Given the description of an element on the screen output the (x, y) to click on. 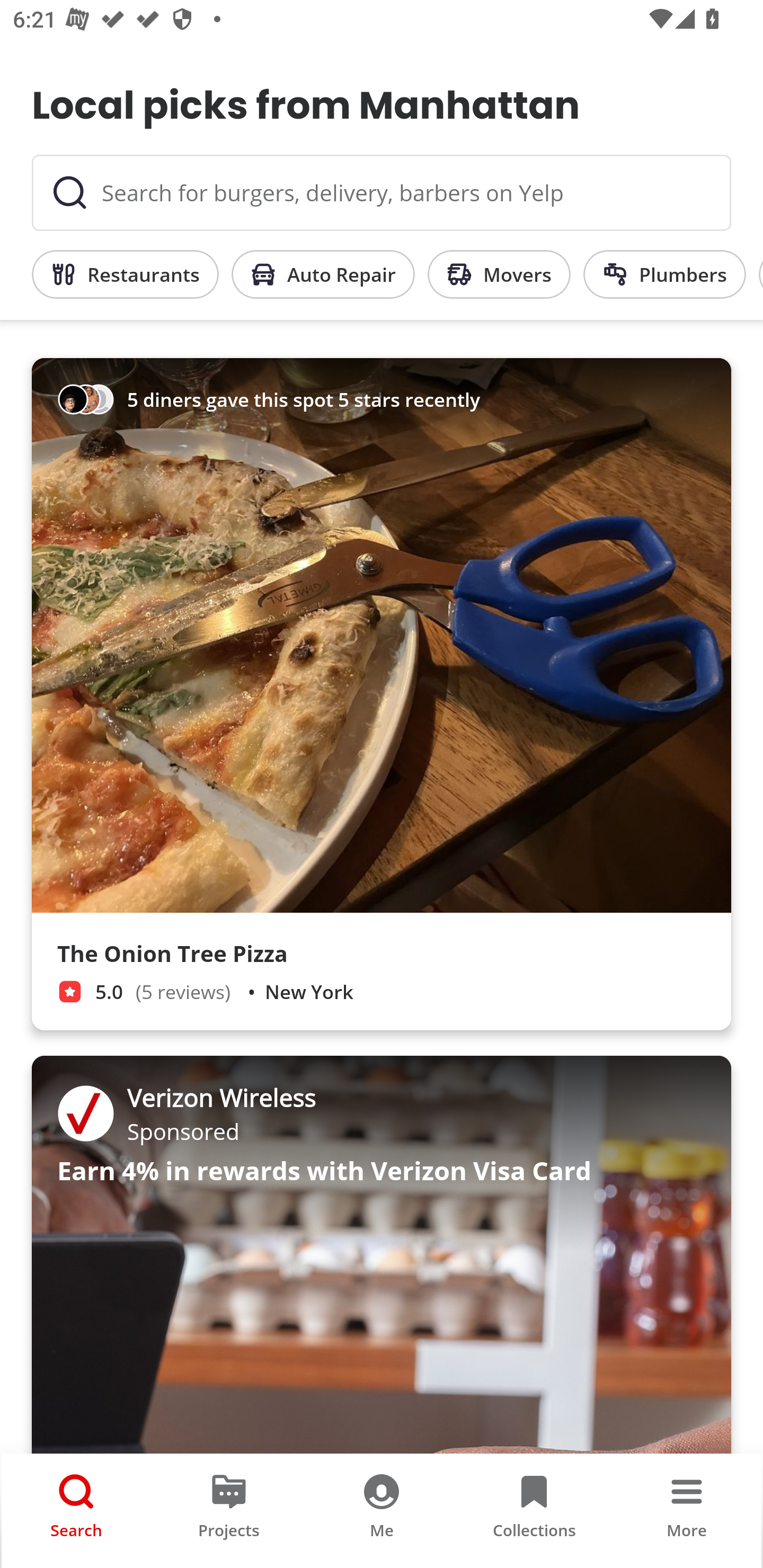
Search for burgers, delivery, barbers on Yelp (381, 192)
